Given the description of an element on the screen output the (x, y) to click on. 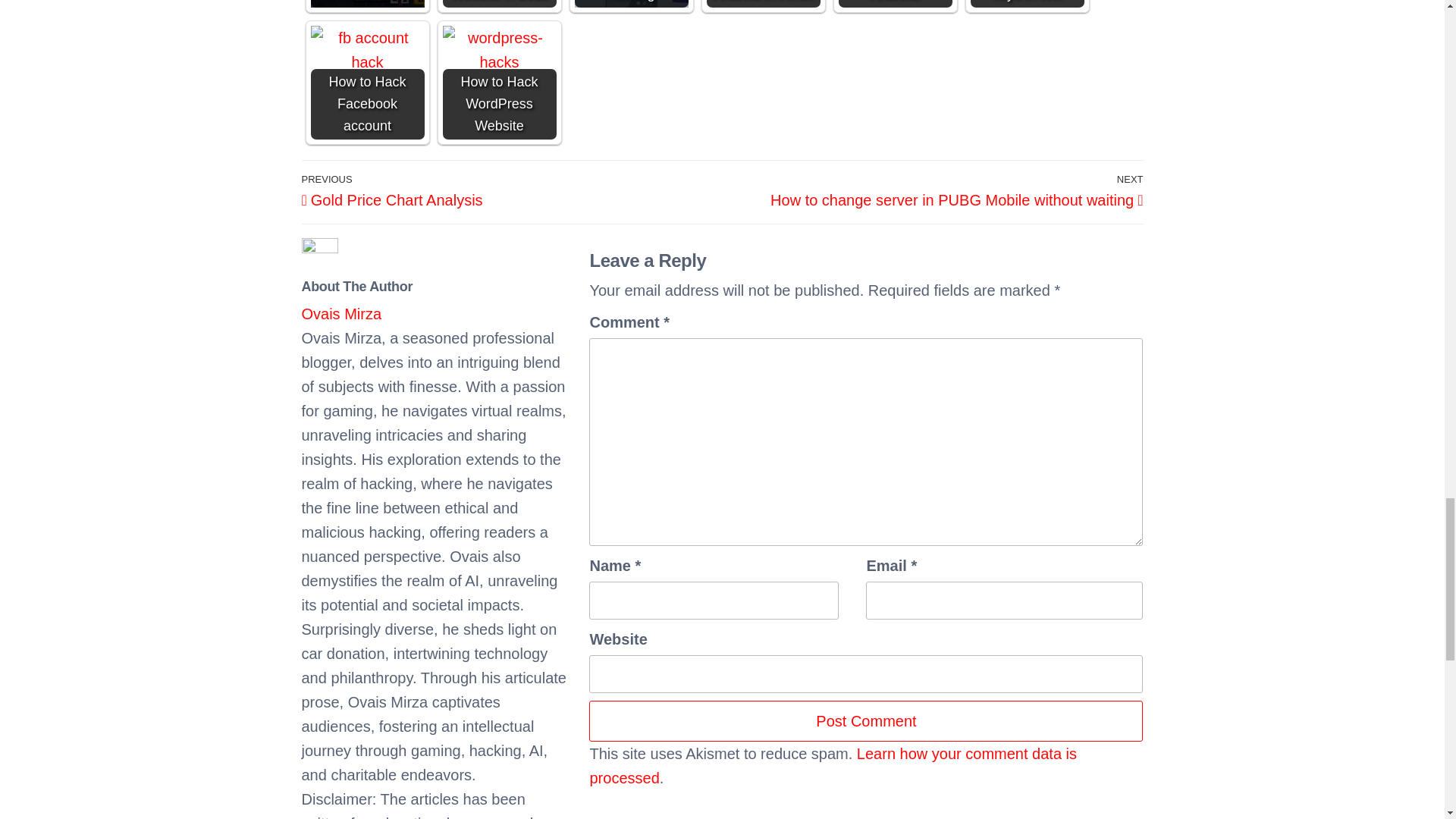
Post Comment (865, 721)
